Given the description of an element on the screen output the (x, y) to click on. 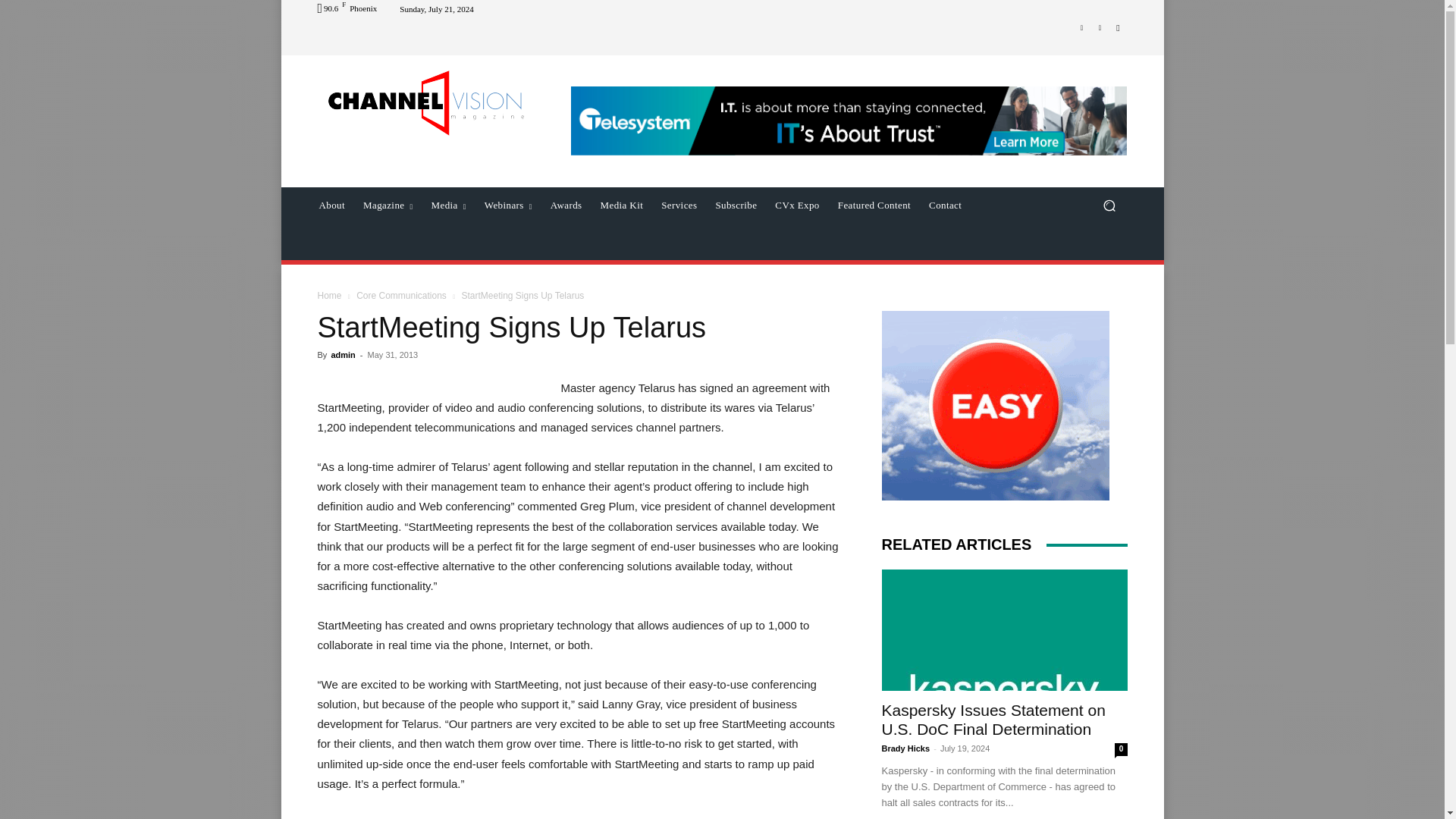
Magazine (387, 205)
Linkedin (1080, 27)
About (330, 205)
View all posts in Core Communications (401, 295)
Twitter (1099, 27)
Kaspersky Issues Statement on U.S. DoC Final Determination (992, 719)
Kaspersky Issues Statement on U.S. DoC Final Determination (1003, 630)
Youtube (1117, 27)
